Given the description of an element on the screen output the (x, y) to click on. 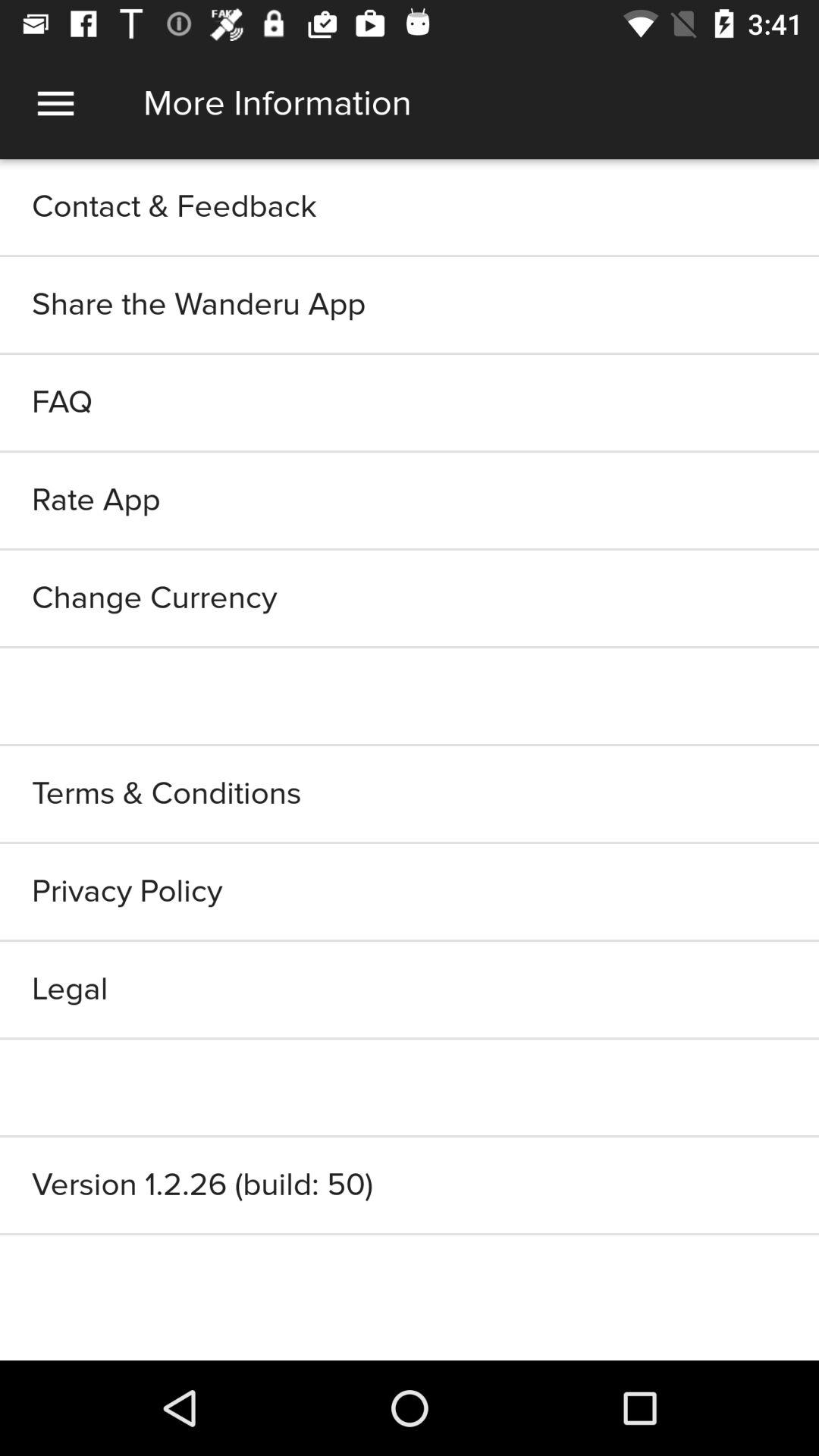
click item above the rate app (409, 402)
